Given the description of an element on the screen output the (x, y) to click on. 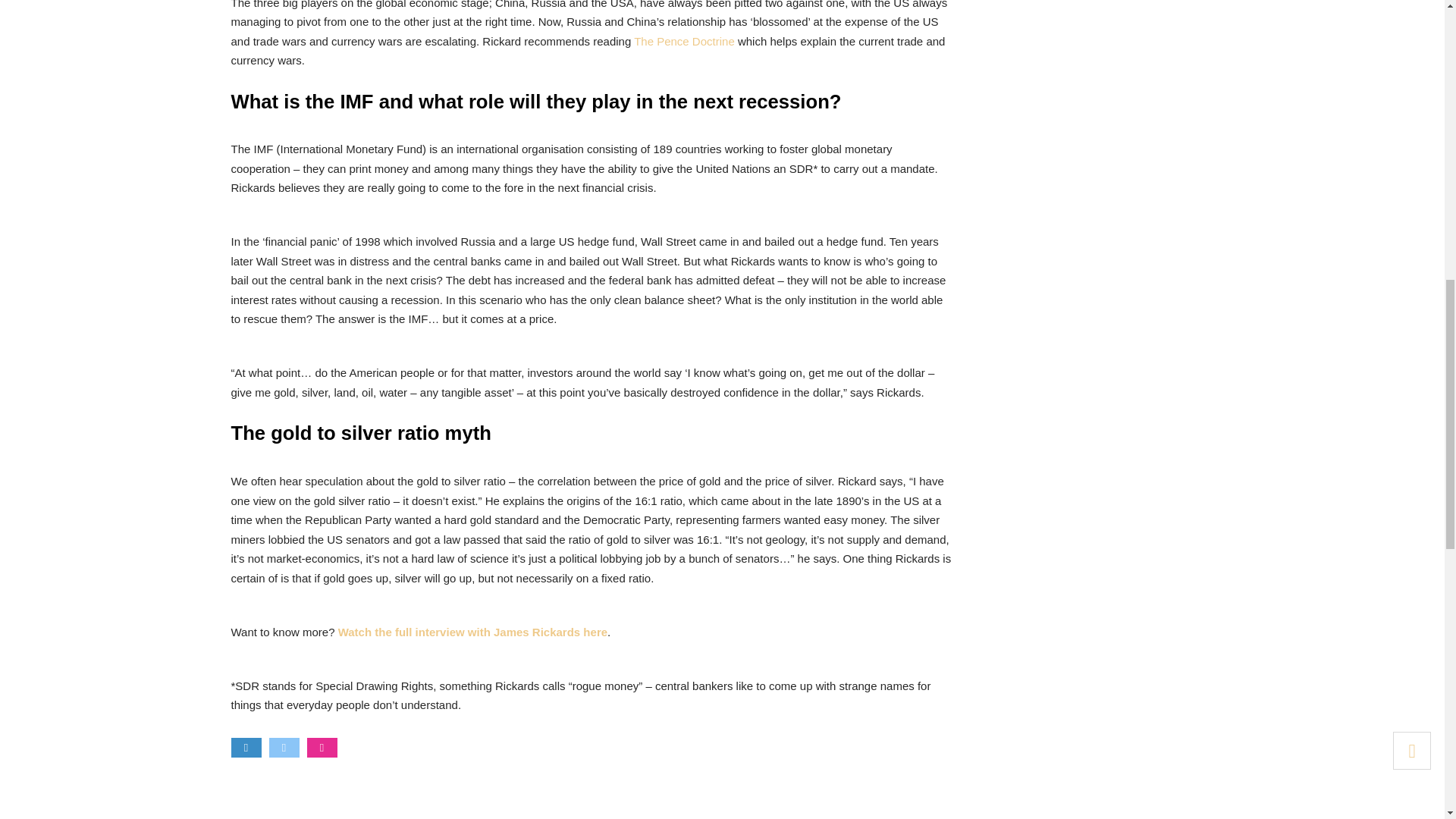
Pin (320, 747)
Facebook (245, 747)
Twitter (282, 747)
